Given the description of an element on the screen output the (x, y) to click on. 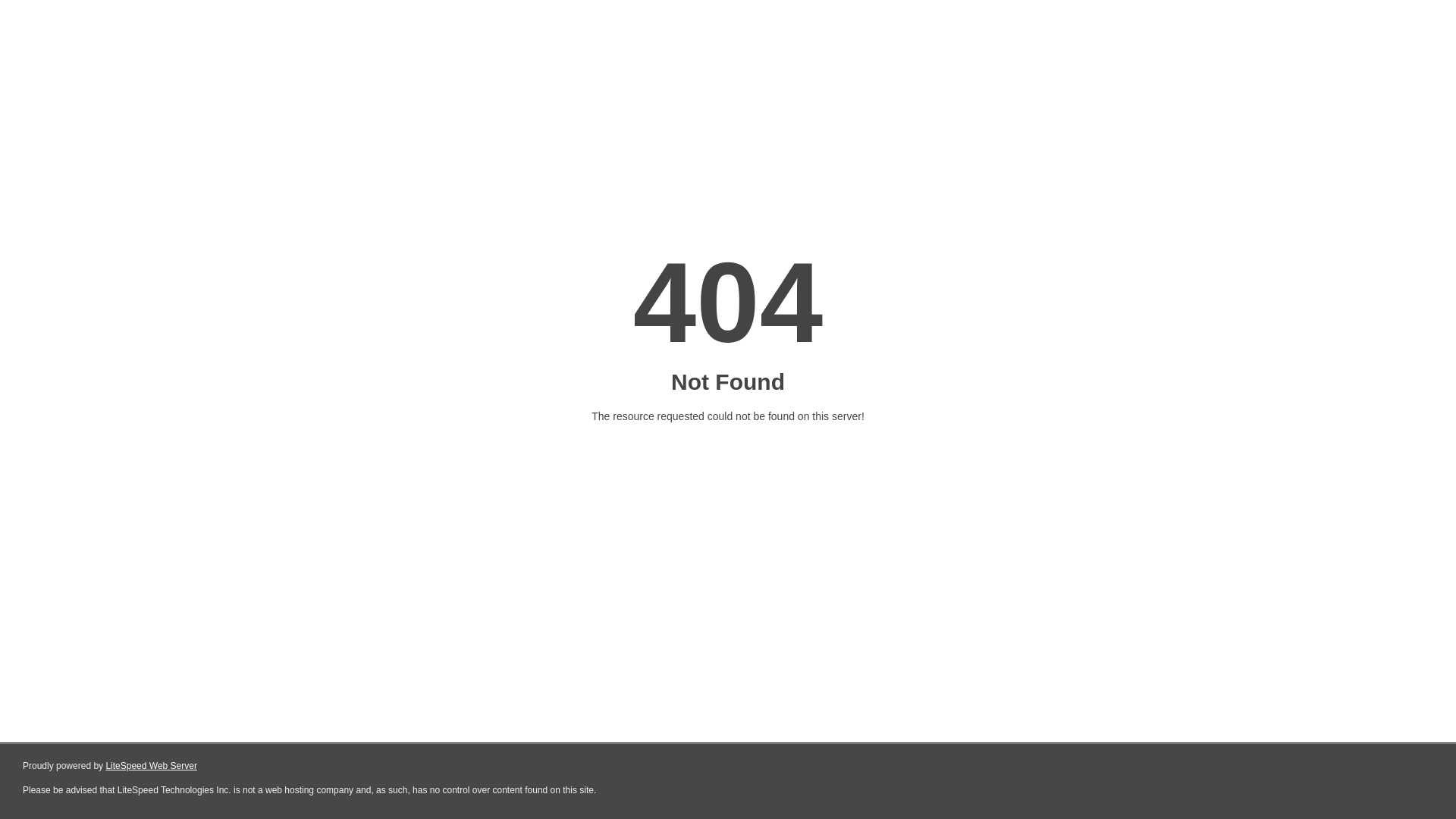
LiteSpeed Web Server Element type: text (151, 765)
